Given the description of an element on the screen output the (x, y) to click on. 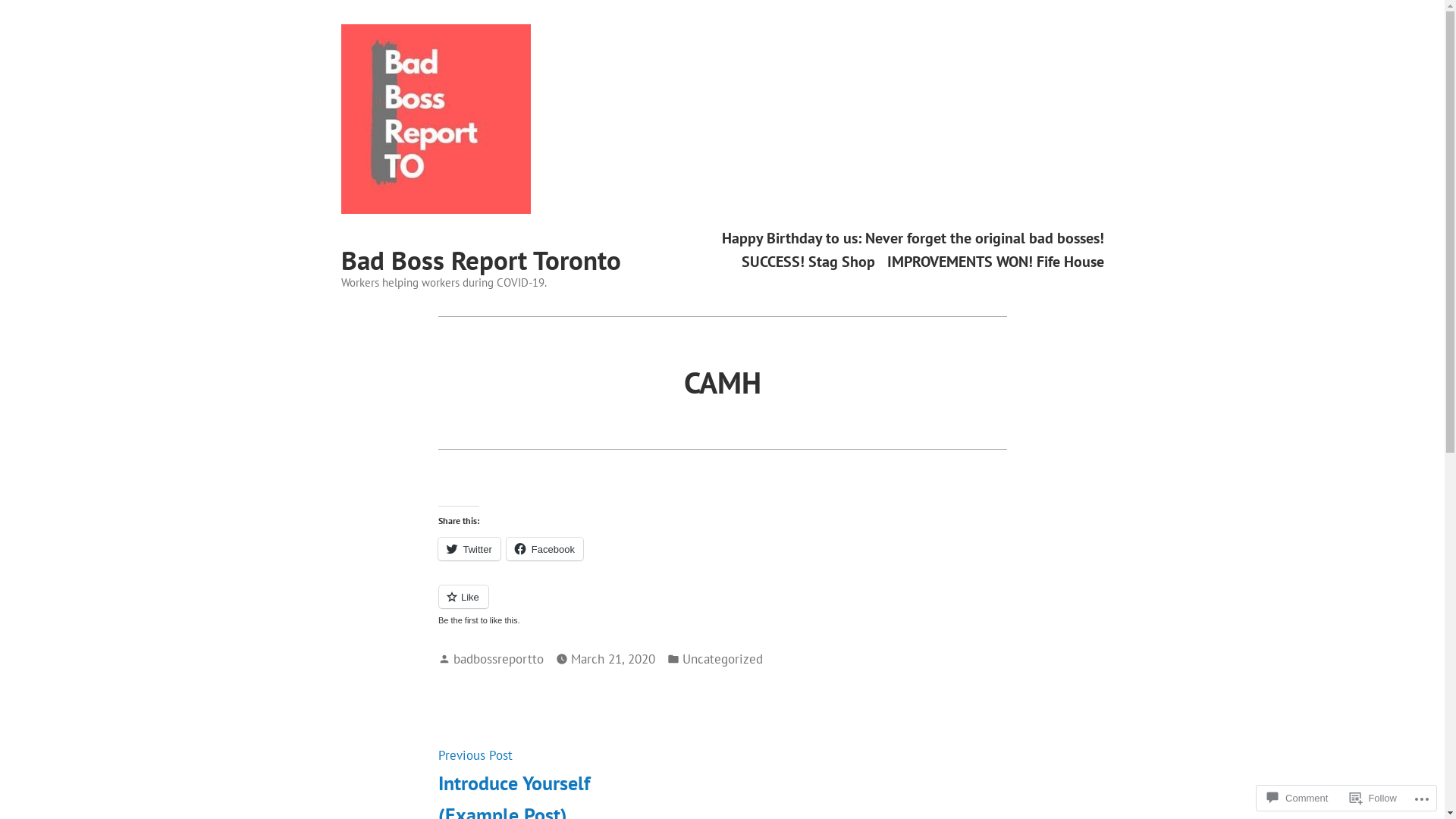
March 21, 2020 Element type: text (612, 658)
Bad Boss Report Toronto Element type: text (481, 259)
Comment Element type: text (1297, 797)
Happy Birthday to us: Never forget the original bad bosses! Element type: text (912, 237)
Follow Element type: text (1372, 797)
Twitter Element type: text (469, 548)
IMPROVEMENTS WON! Fife House Element type: text (995, 261)
Like or Reblog Element type: hover (722, 605)
Facebook Element type: text (544, 548)
SUCCESS! Stag Shop Element type: text (808, 261)
Uncategorized Element type: text (722, 658)
badbossreportto Element type: text (498, 658)
